Given the description of an element on the screen output the (x, y) to click on. 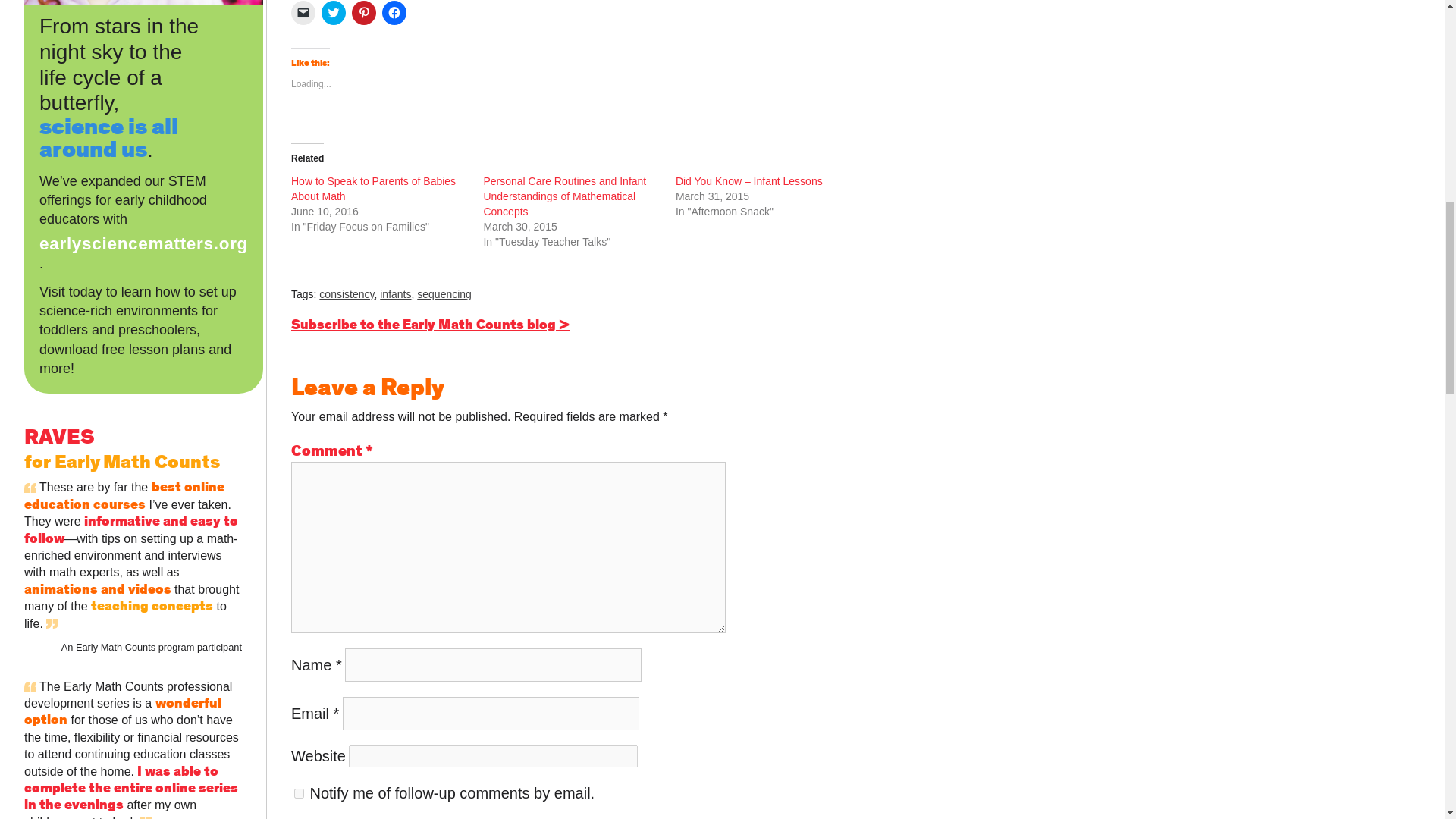
Click to email a link to a friend (303, 12)
Click to share on Facebook (393, 12)
Click to share on Pinterest (363, 12)
subscribe (299, 793)
Click to share on Twitter (333, 12)
How to Speak to Parents of Babies About Math (373, 188)
